Given the description of an element on the screen output the (x, y) to click on. 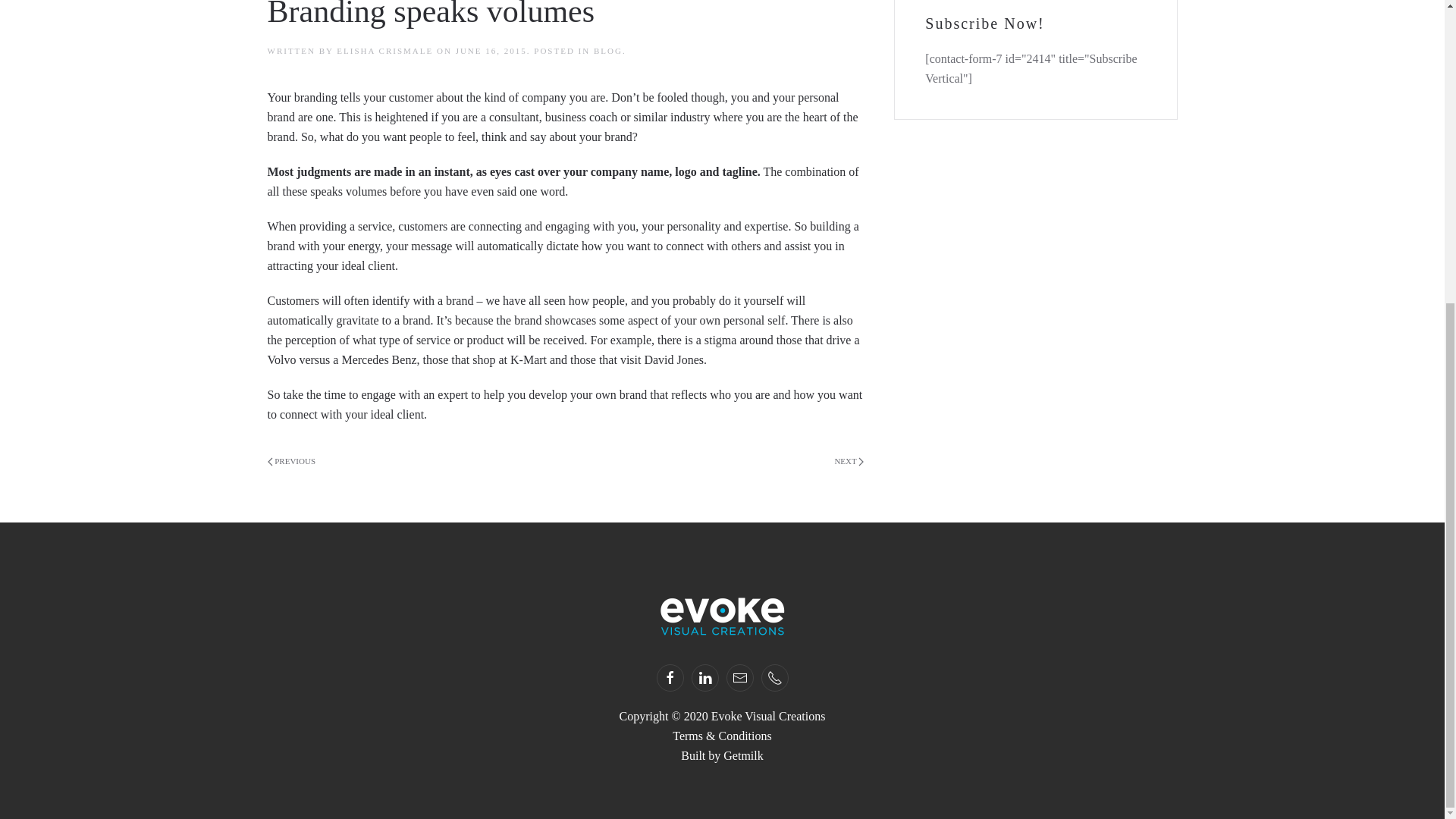
PREVIOUS (290, 462)
ELISHA CRISMALE (384, 50)
BLOG (608, 50)
NEXT (848, 462)
